Given the description of an element on the screen output the (x, y) to click on. 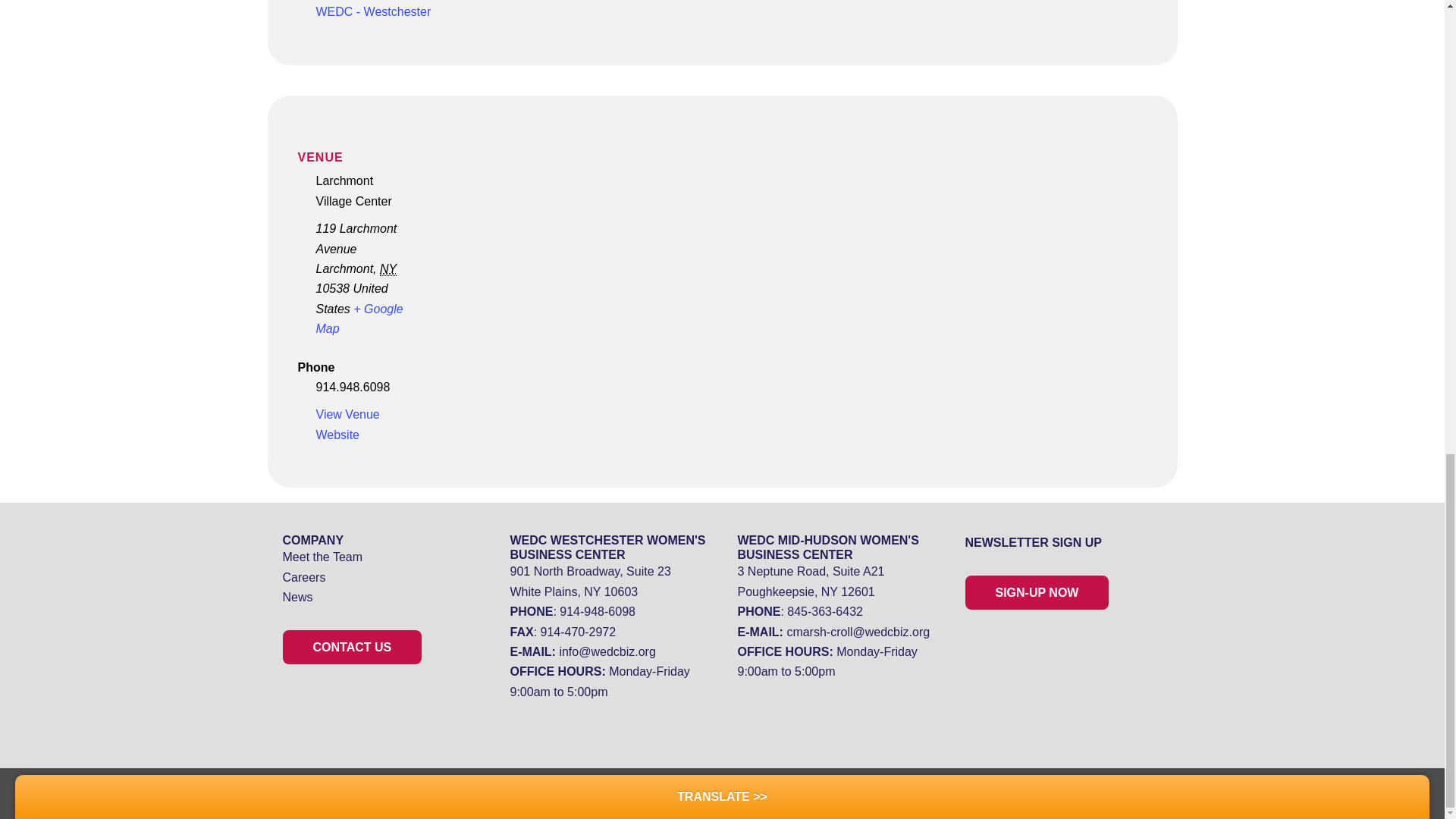
Click to view a Google Map (359, 318)
New York (388, 269)
